Given the description of an element on the screen output the (x, y) to click on. 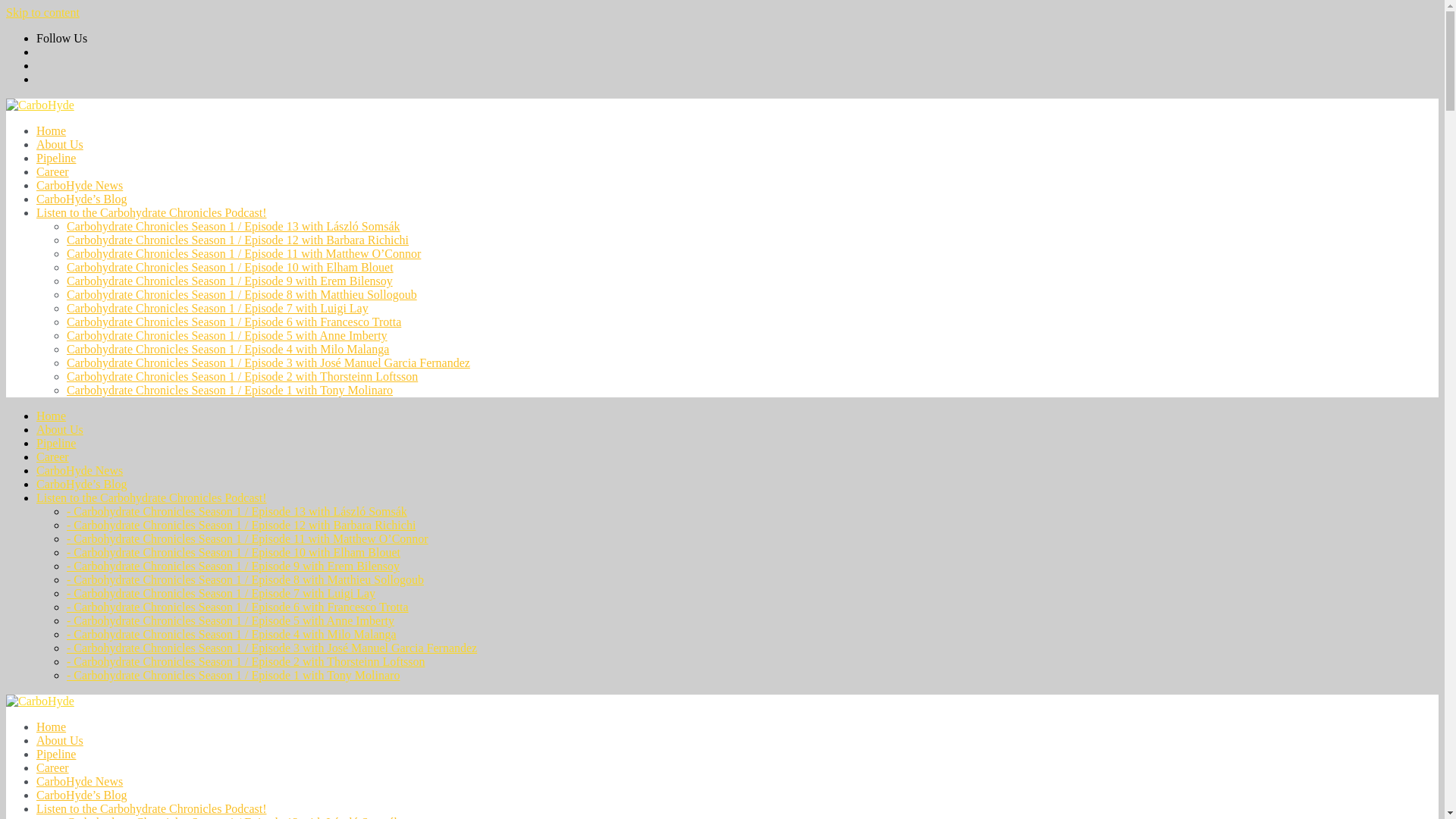
Home (50, 130)
Skip to content (42, 11)
CarboHyde News (79, 470)
About Us (59, 144)
Pipeline (55, 157)
Listen to the Carbohydrate Chronicles Podcast! (151, 212)
About Us (59, 429)
CarboHyde News (79, 185)
Career (52, 171)
Home (50, 415)
